Given the description of an element on the screen output the (x, y) to click on. 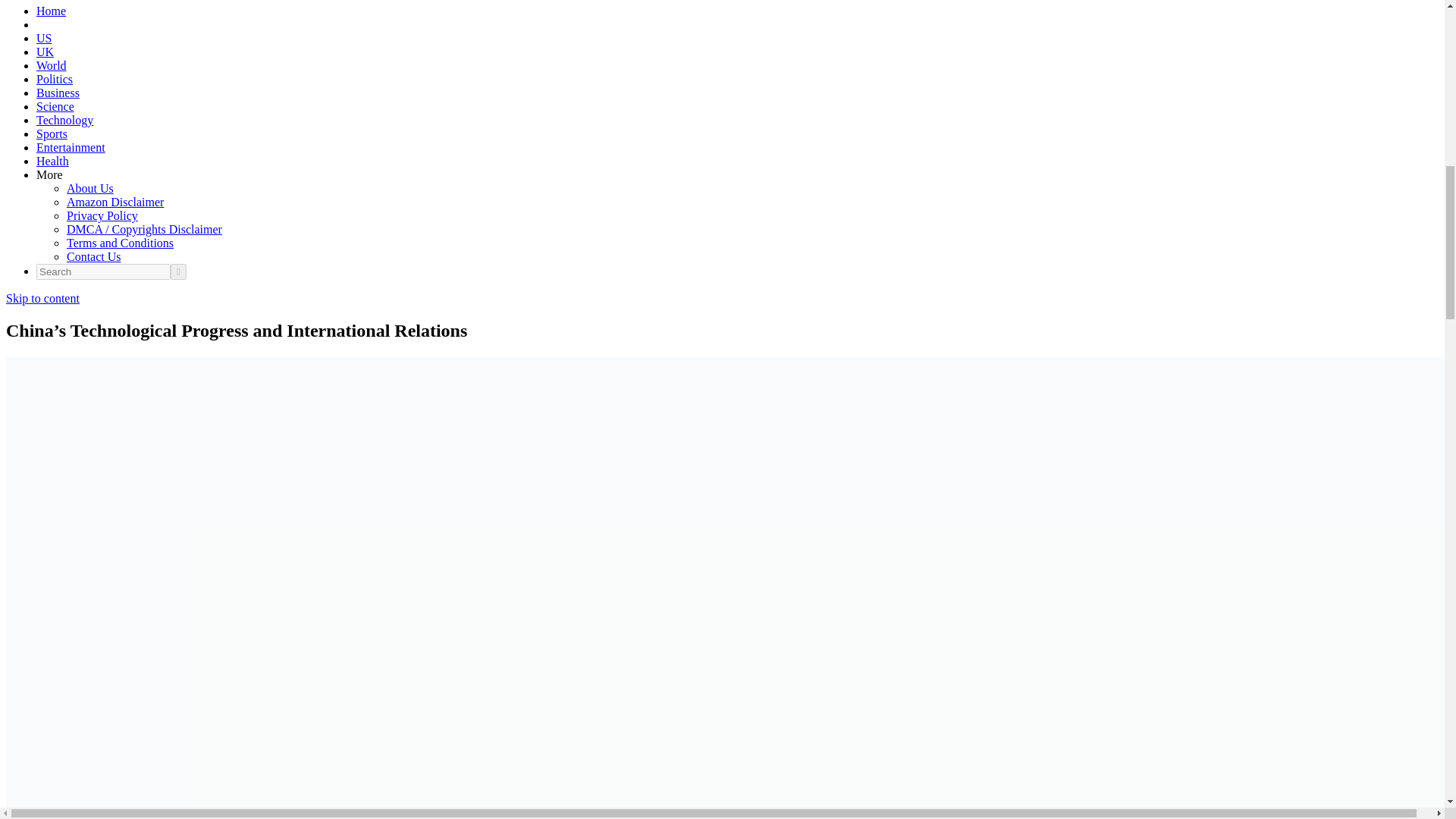
World (51, 65)
Sports (51, 133)
Science (55, 106)
Amazon Disclaimer (114, 201)
Technology (64, 119)
More (49, 174)
Entertainment (70, 146)
US (43, 38)
Politics (54, 78)
Health (52, 160)
